Given the description of an element on the screen output the (x, y) to click on. 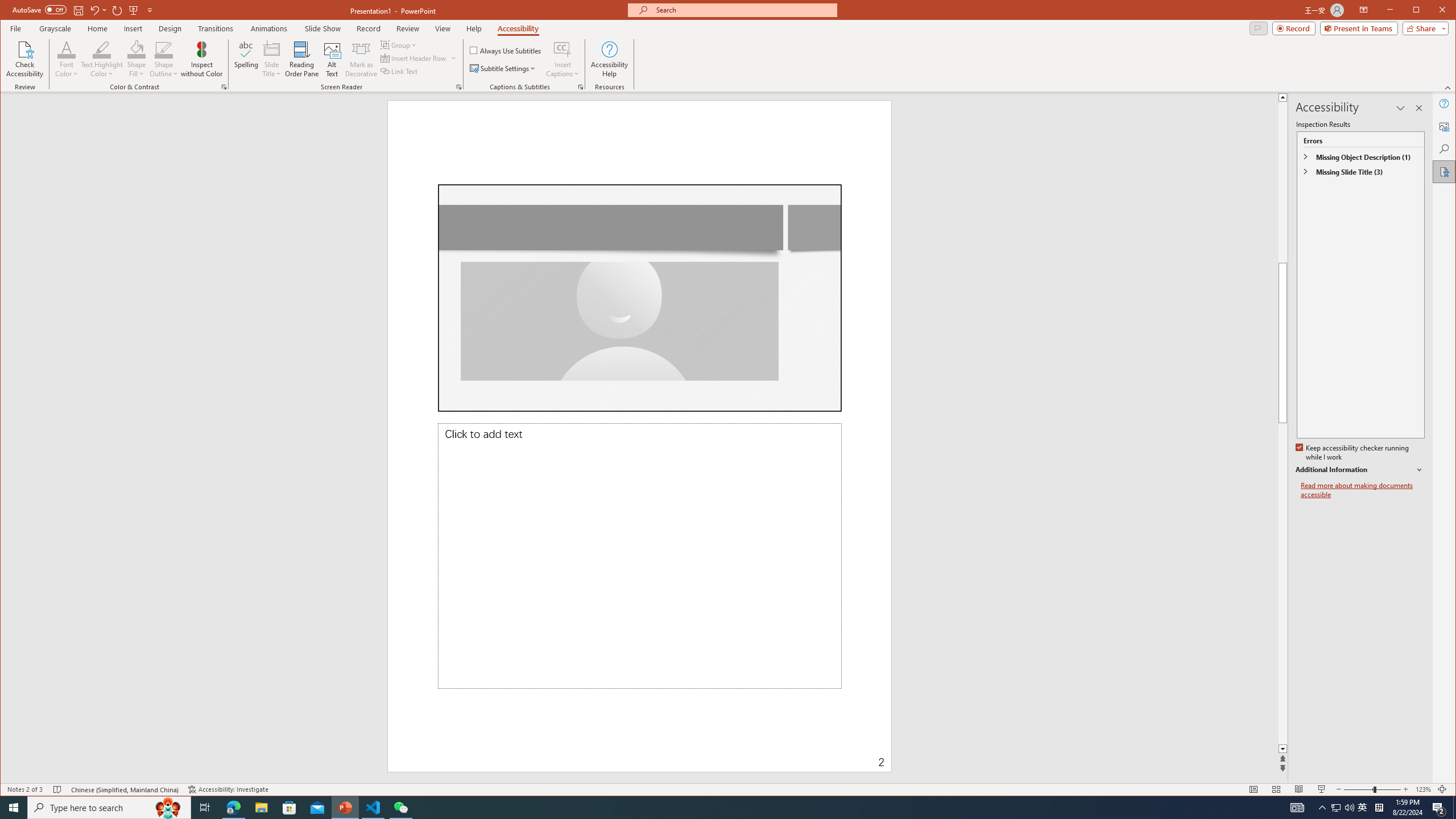
Page up (1427, 181)
Alt Text (1444, 125)
Read more about making documents accessible (1362, 489)
Screen Reader (458, 86)
Mark as Decorative (360, 59)
Insert Header Row (418, 57)
Insert Captions (562, 48)
Color & Contrast (223, 86)
Alt Text (331, 59)
Microsoft Edge - 1 running window (233, 807)
